Given the description of an element on the screen output the (x, y) to click on. 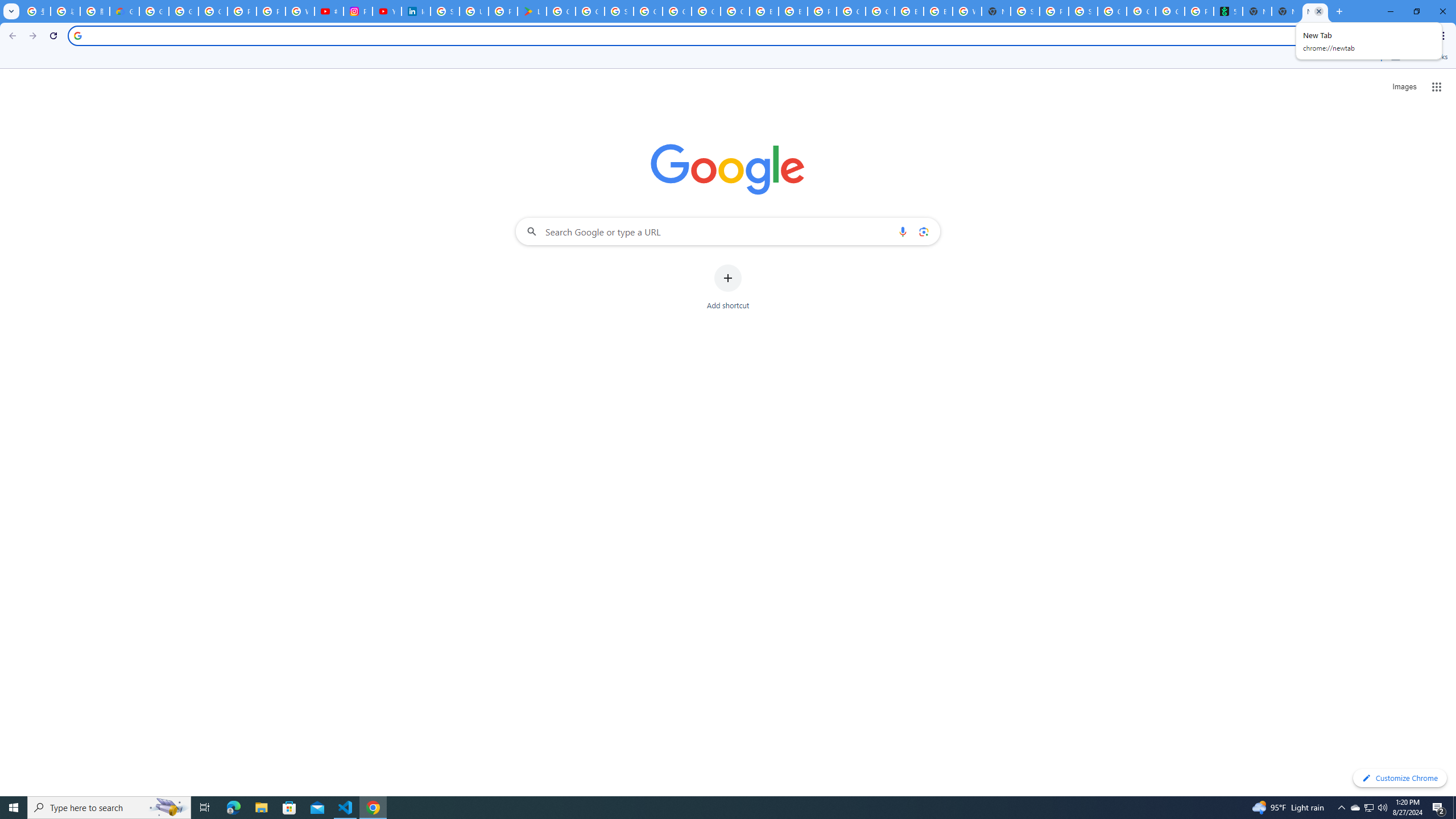
Search by voice (902, 230)
Sign in - Google Accounts (619, 11)
Google Cloud Platform (677, 11)
Last Shelter: Survival - Apps on Google Play (531, 11)
New Tab (996, 11)
New Tab (1315, 11)
